Given the description of an element on the screen output the (x, y) to click on. 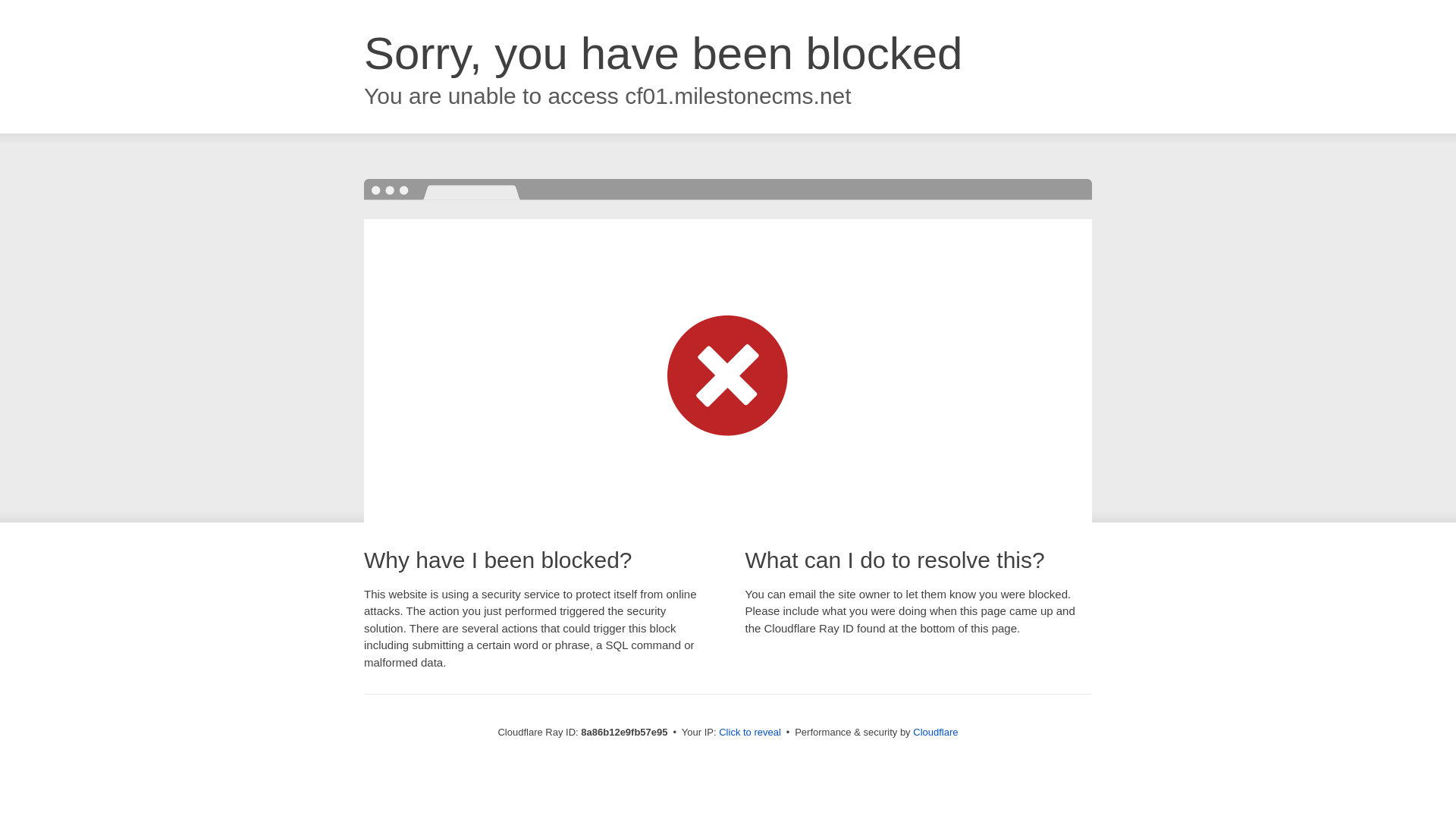
Click to reveal (749, 732)
Cloudflare (935, 731)
